Given the description of an element on the screen output the (x, y) to click on. 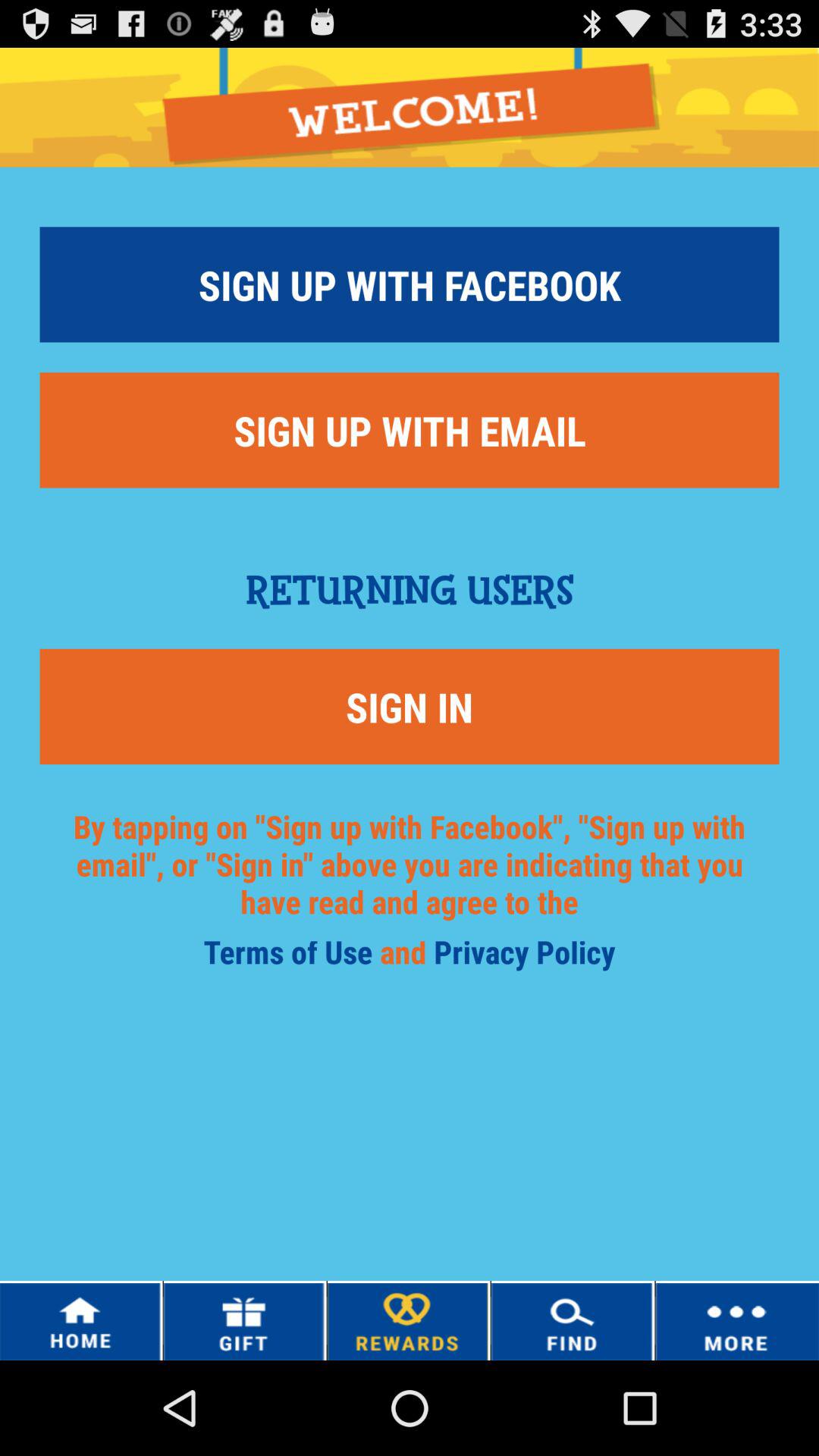
select item to the left of and (291, 957)
